Given the description of an element on the screen output the (x, y) to click on. 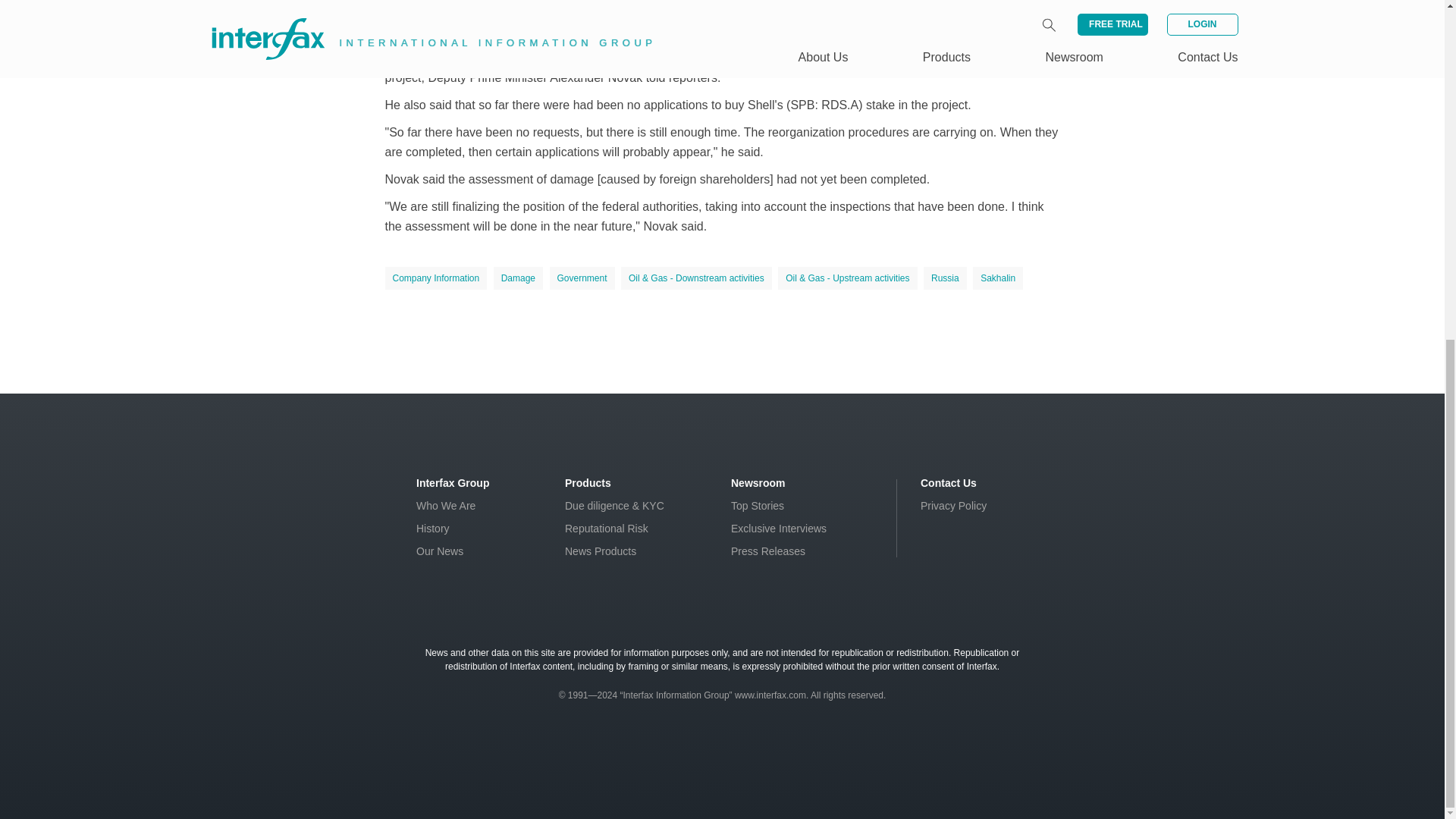
Company Information (436, 277)
Government (581, 277)
Damage (518, 277)
